Given the description of an element on the screen output the (x, y) to click on. 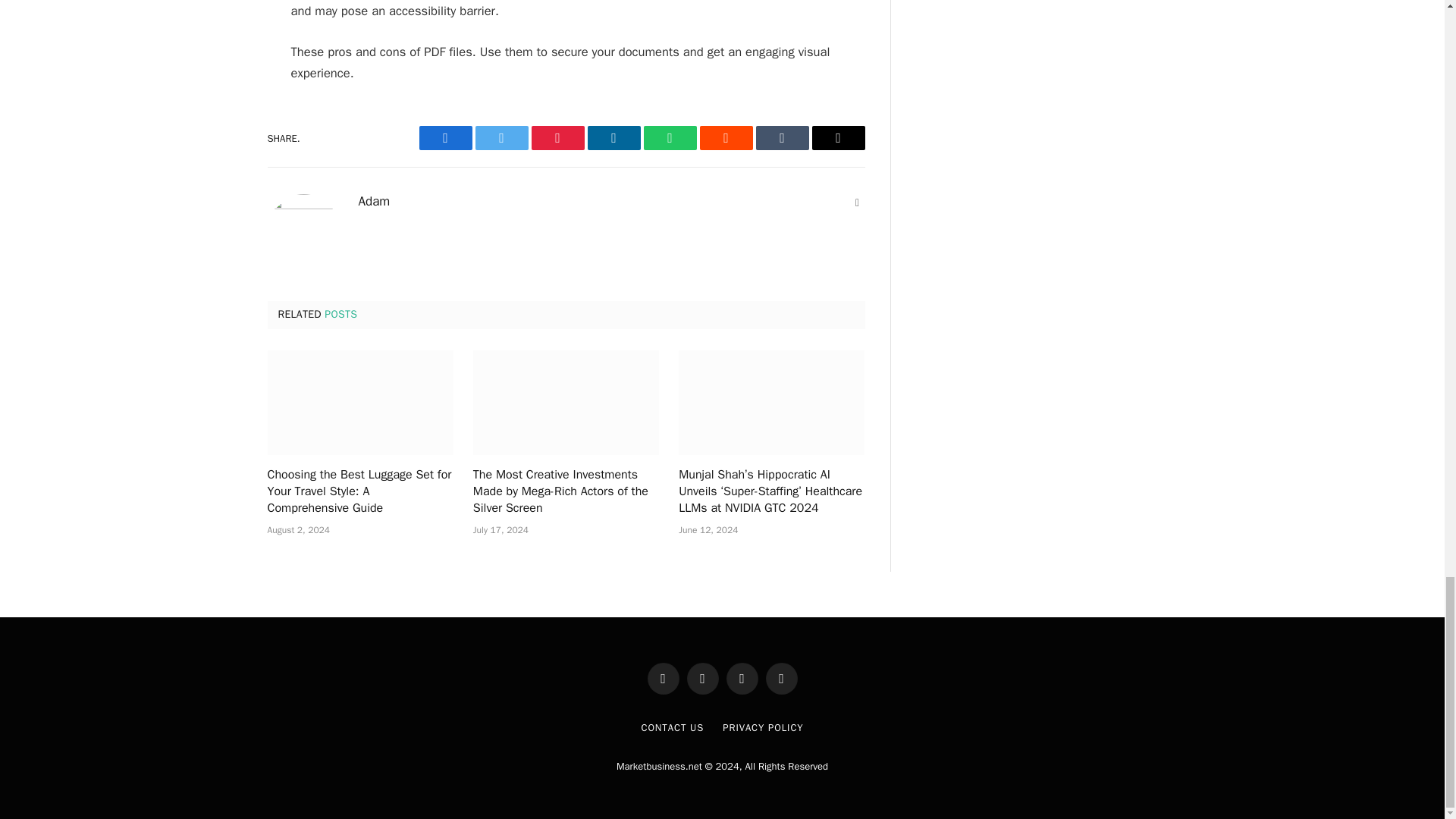
Reddit (725, 137)
Share on LinkedIn (613, 137)
LinkedIn (613, 137)
Share on Pinterest (557, 137)
Facebook (445, 137)
Share on WhatsApp (669, 137)
Twitter (500, 137)
Share on Facebook (445, 137)
WhatsApp (669, 137)
Pinterest (557, 137)
